Given the description of an element on the screen output the (x, y) to click on. 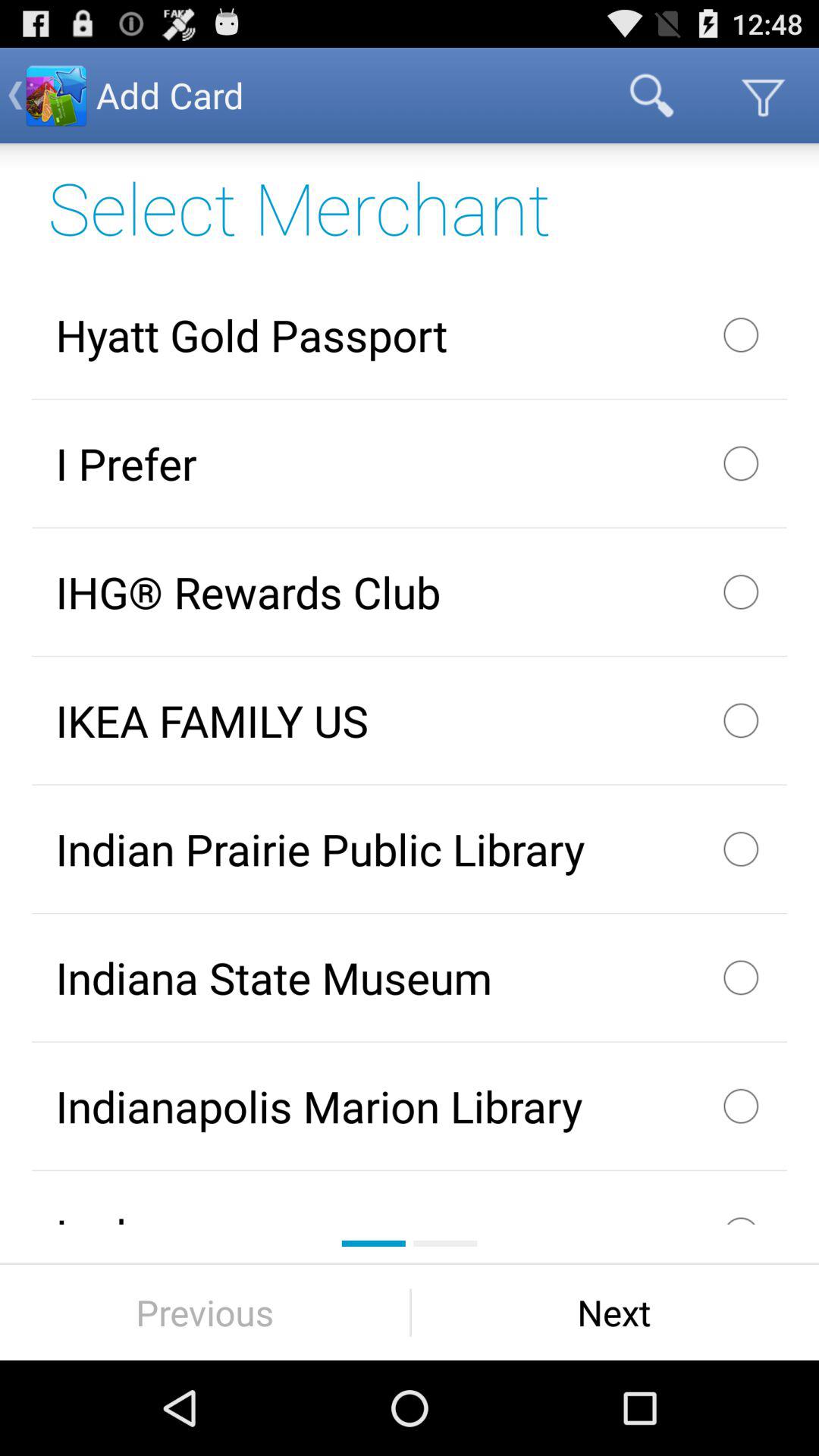
open ikea family us checkbox (409, 720)
